Given the description of an element on the screen output the (x, y) to click on. 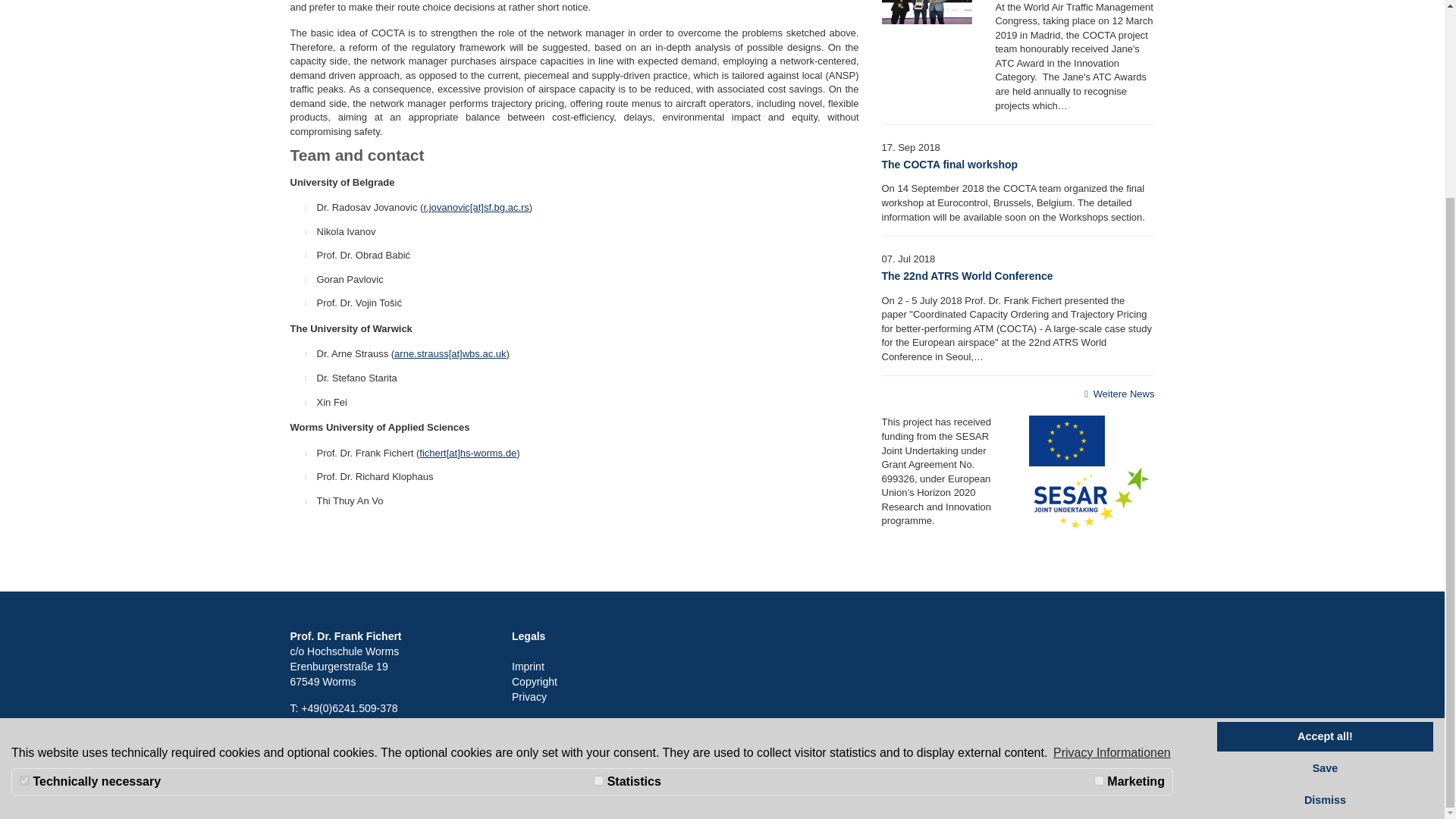
Privacy (529, 696)
Privacy Informationen (1112, 502)
Copyright (534, 681)
Privacy (529, 696)
Copyright (534, 681)
Accept all! (1324, 486)
The COCTA final workshop (948, 164)
Imprint (528, 666)
Save (1324, 518)
Weitere News (1117, 393)
The 22nd ATRS World Conference (966, 275)
Dismiss (1324, 550)
Imprint (528, 666)
